Given the description of an element on the screen output the (x, y) to click on. 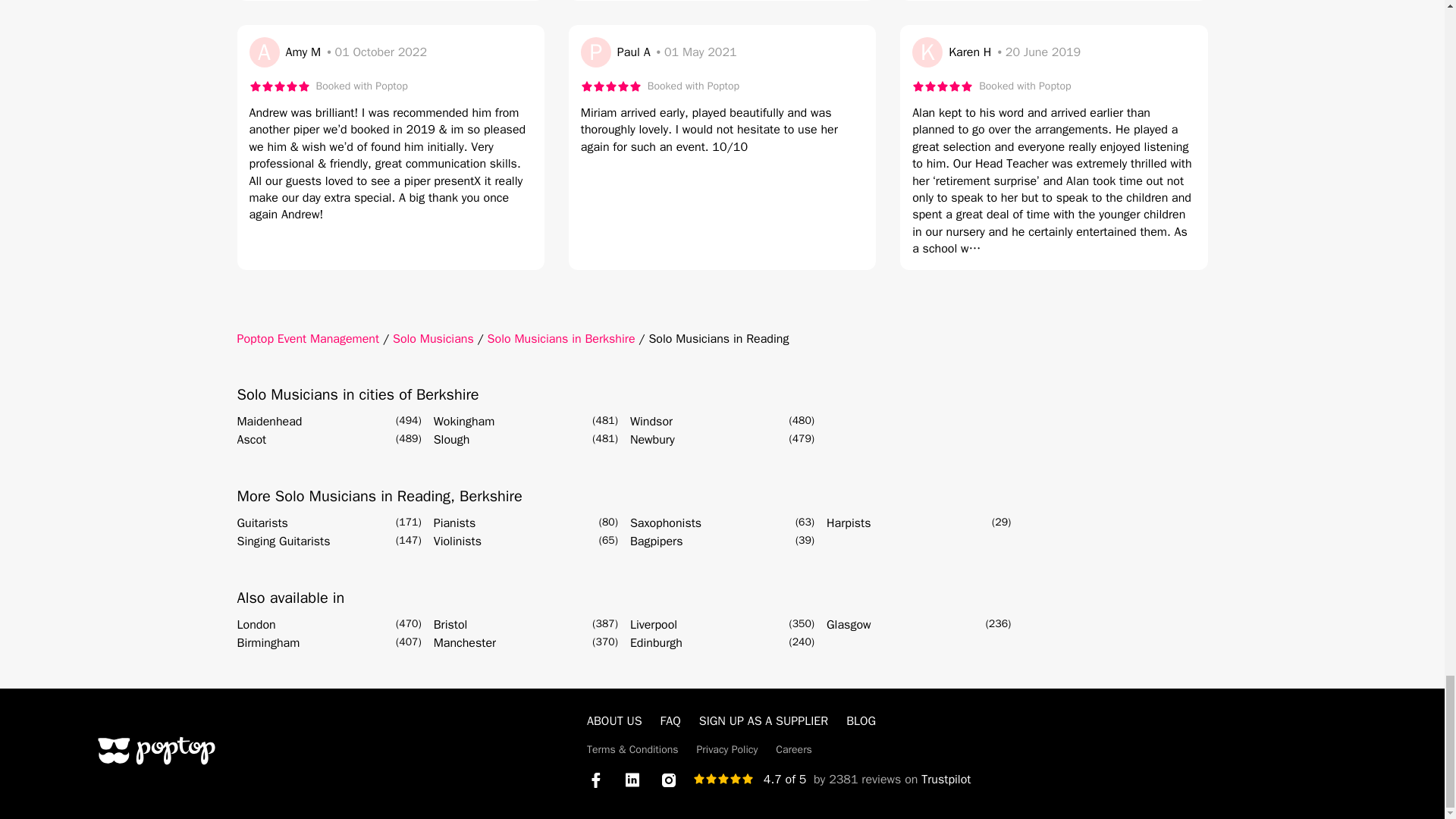
Ascot (250, 439)
Harpists (848, 523)
Solo Musicians (433, 338)
Wokingham (464, 421)
Pianists (454, 523)
Windsor (651, 421)
Slough (451, 439)
Guitarists (260, 523)
Singing Guitarists (282, 541)
Poptop Event Management (306, 338)
Newbury (652, 439)
Violinists (457, 541)
Solo Musicians in Berkshire (560, 338)
Bagpipers (656, 541)
London (255, 624)
